Given the description of an element on the screen output the (x, y) to click on. 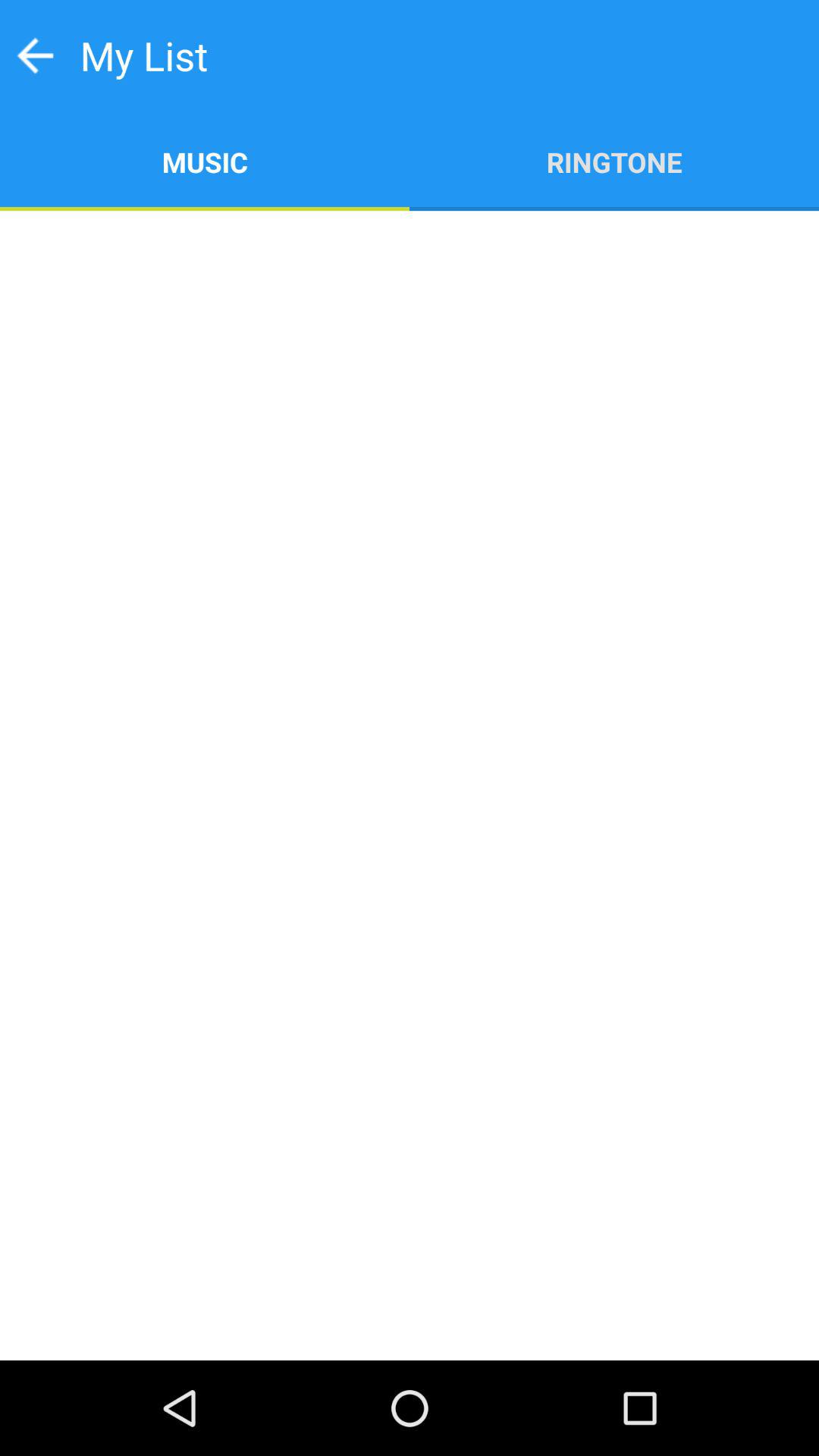
select item below music icon (409, 785)
